Given the description of an element on the screen output the (x, y) to click on. 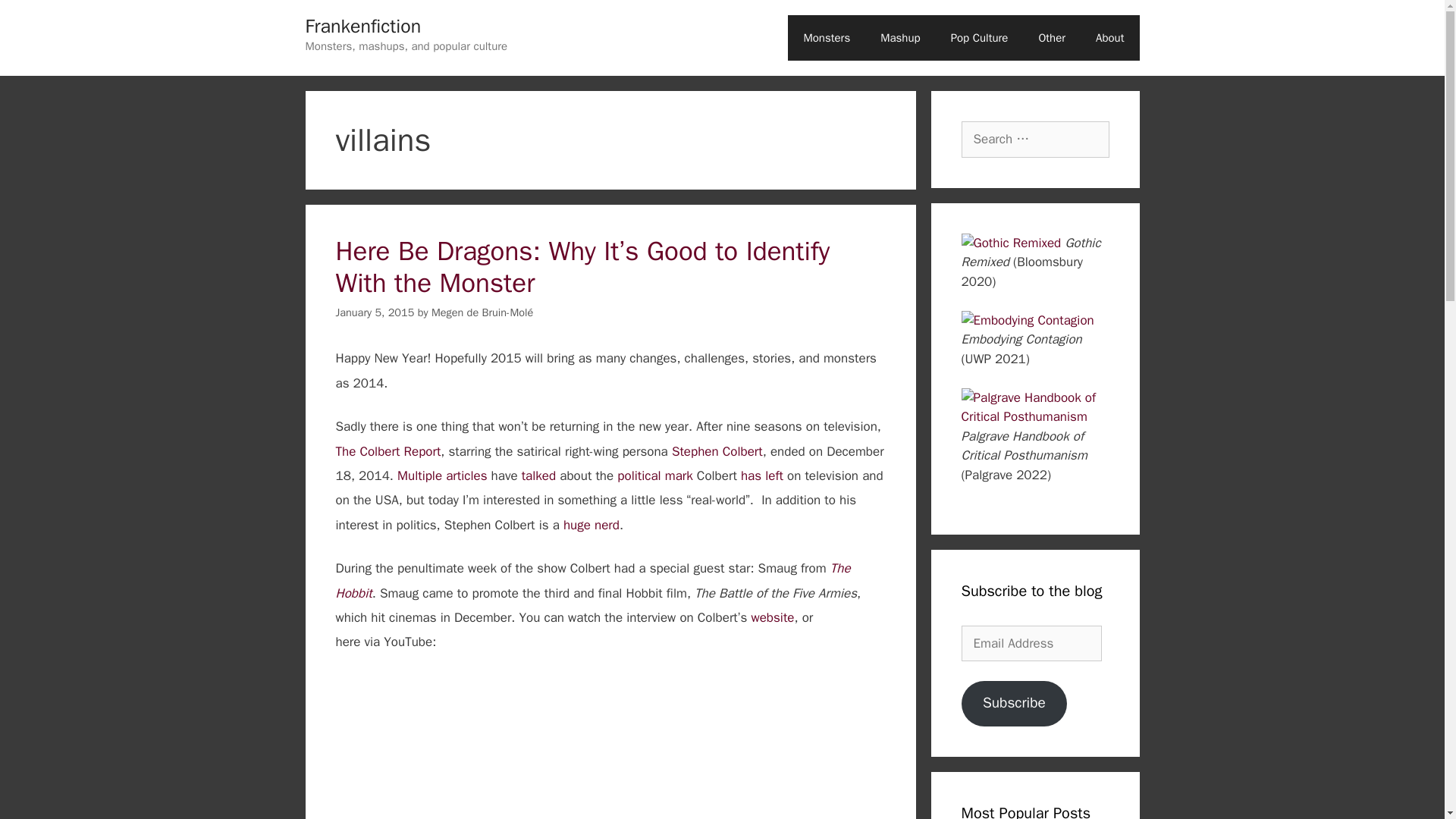
Mashup (899, 37)
The Colbert Report (387, 451)
About (1109, 37)
Search for: (1034, 139)
Pop Culture (979, 37)
The Hobbit (592, 580)
Frankenfiction (362, 25)
talked (538, 475)
Other (1051, 37)
has left (762, 475)
huge nerd (591, 524)
Monsters (825, 37)
political mark (655, 475)
Stephen Colbert (716, 451)
Multiple articles (441, 475)
